Given the description of an element on the screen output the (x, y) to click on. 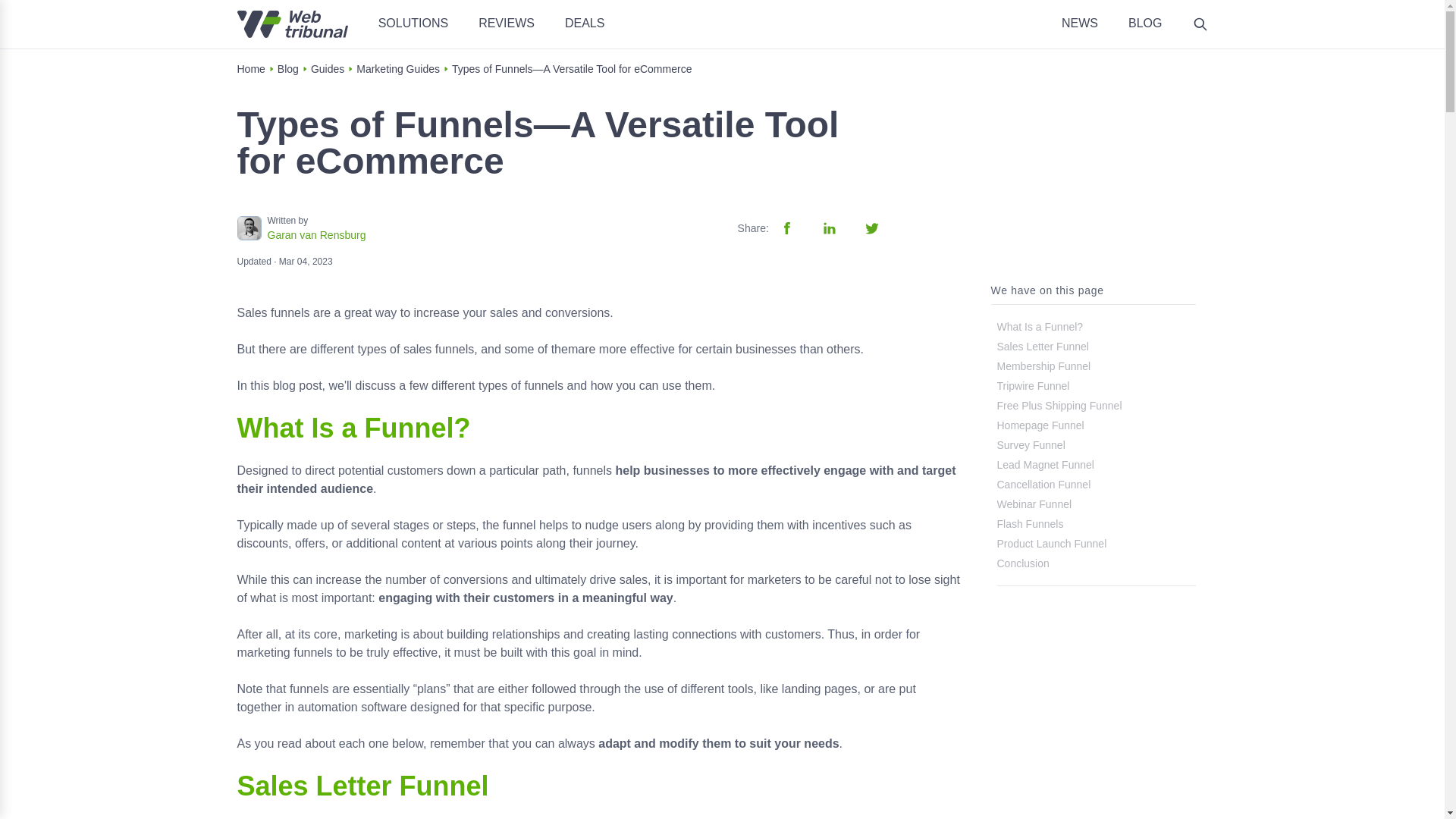
BLOG (1144, 22)
Guides (327, 69)
DEALS (584, 22)
Sales Letter Funnel (1041, 346)
Marketing Guides (397, 69)
What Is a Funnel? (1039, 326)
Garan van Rensburg (315, 234)
NEWS (1079, 22)
Blog (288, 69)
Home (249, 69)
